Given the description of an element on the screen output the (x, y) to click on. 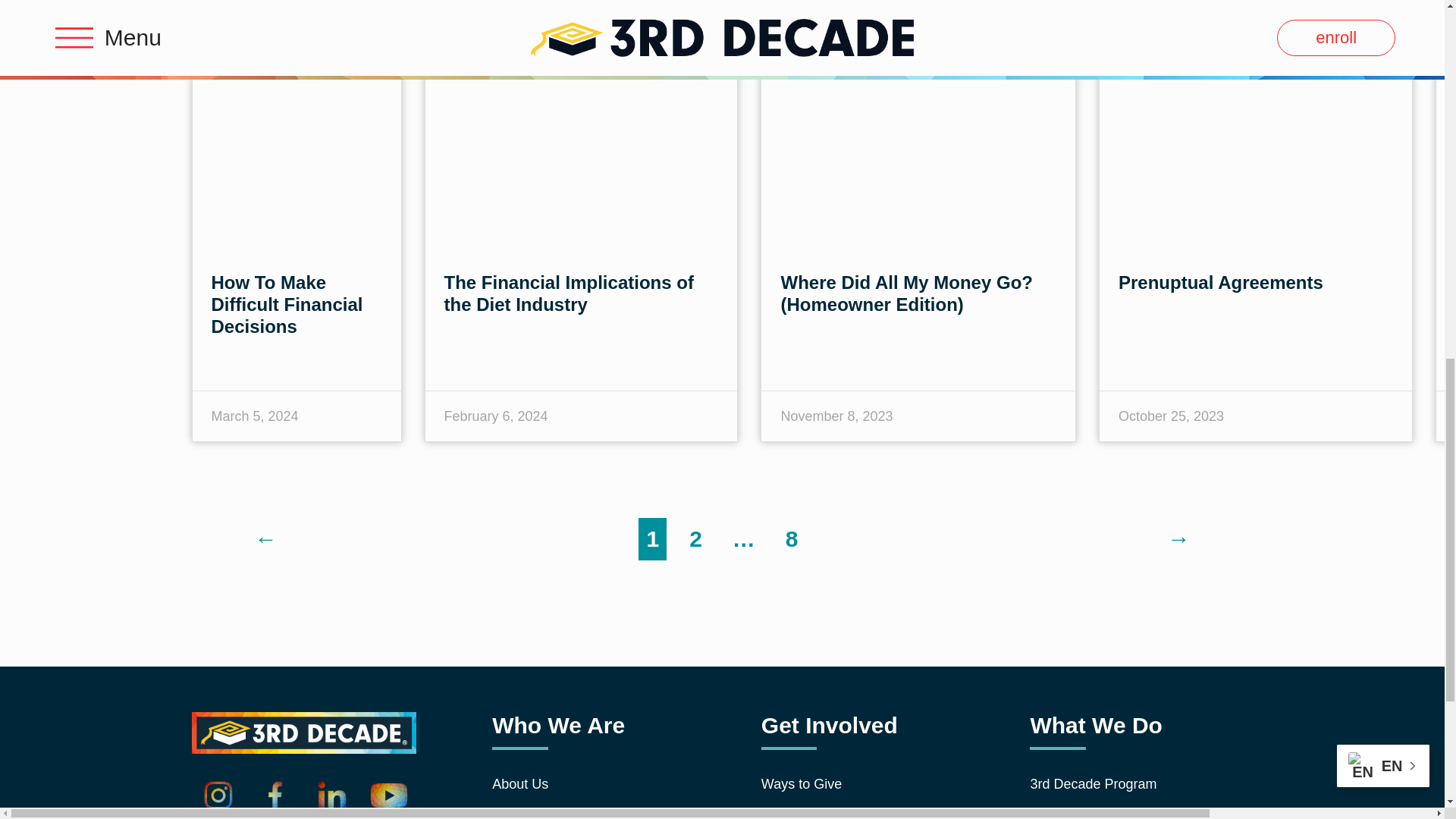
About Us (580, 784)
How To Make Difficult Financial Decisions (286, 303)
Prenuptual Agreements (1220, 281)
DEI (580, 811)
The Financial Implications of the Diet Industry (569, 292)
